Given the description of an element on the screen output the (x, y) to click on. 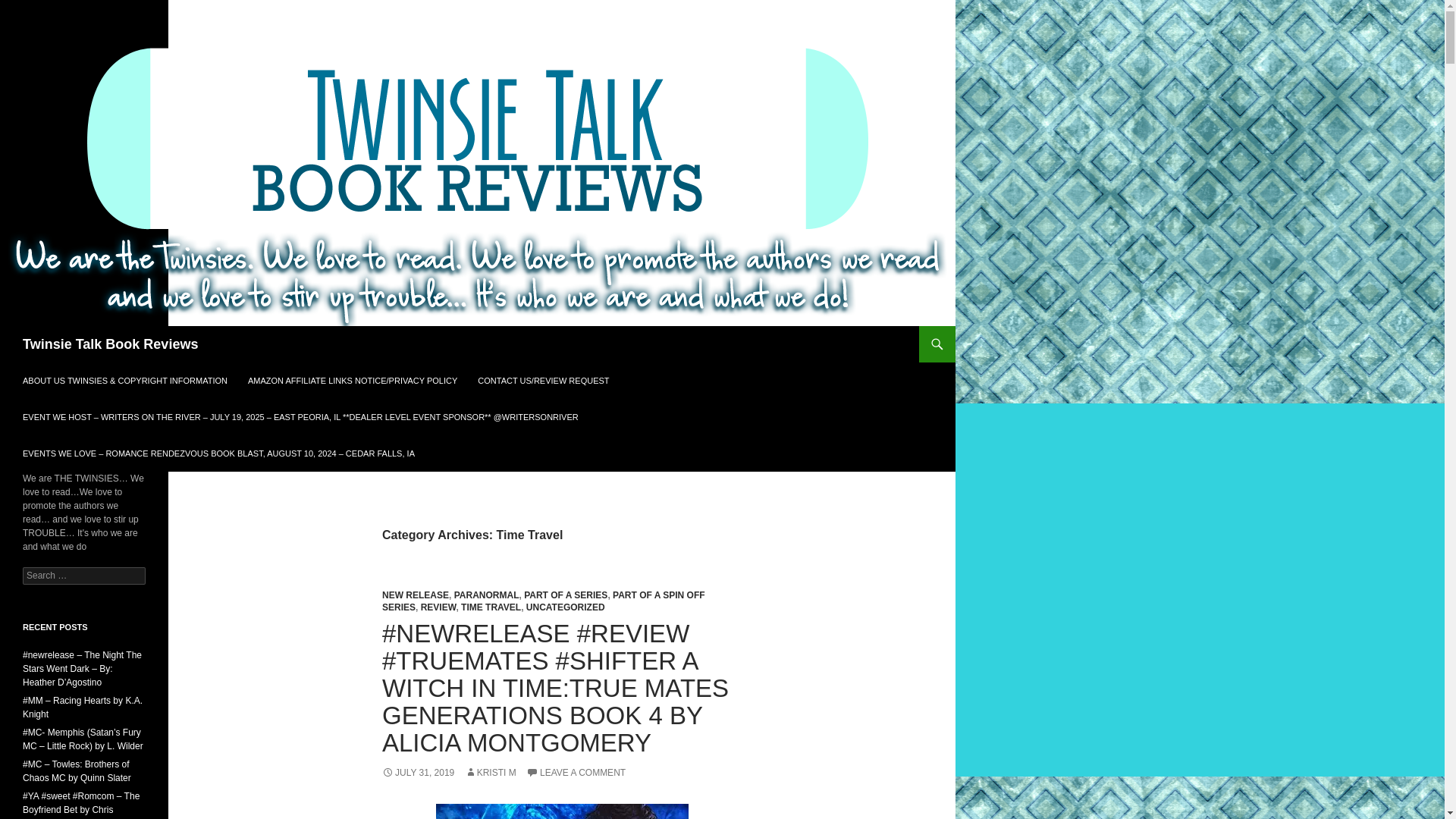
PART OF A SERIES (565, 594)
NEW RELEASE (414, 594)
PARANORMAL (486, 594)
UNCATEGORIZED (565, 606)
REVIEW (438, 606)
PART OF A SPIN OFF SERIES (542, 600)
KRISTI M (490, 772)
Twinsie Talk Book Reviews (110, 343)
LEAVE A COMMENT (575, 772)
TIME TRAVEL (491, 606)
